Given the description of an element on the screen output the (x, y) to click on. 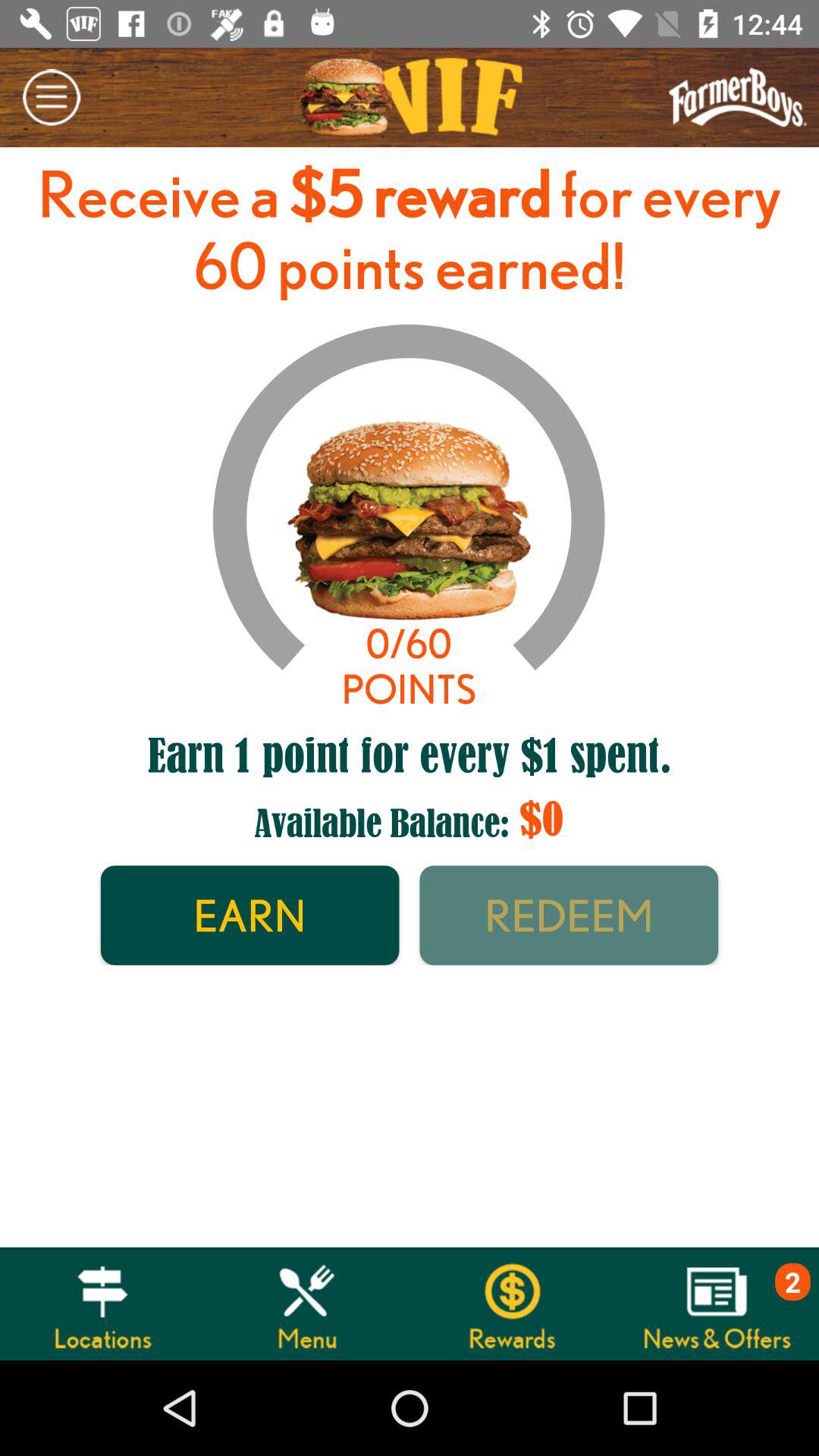
click the icon at the top left corner (51, 96)
